Given the description of an element on the screen output the (x, y) to click on. 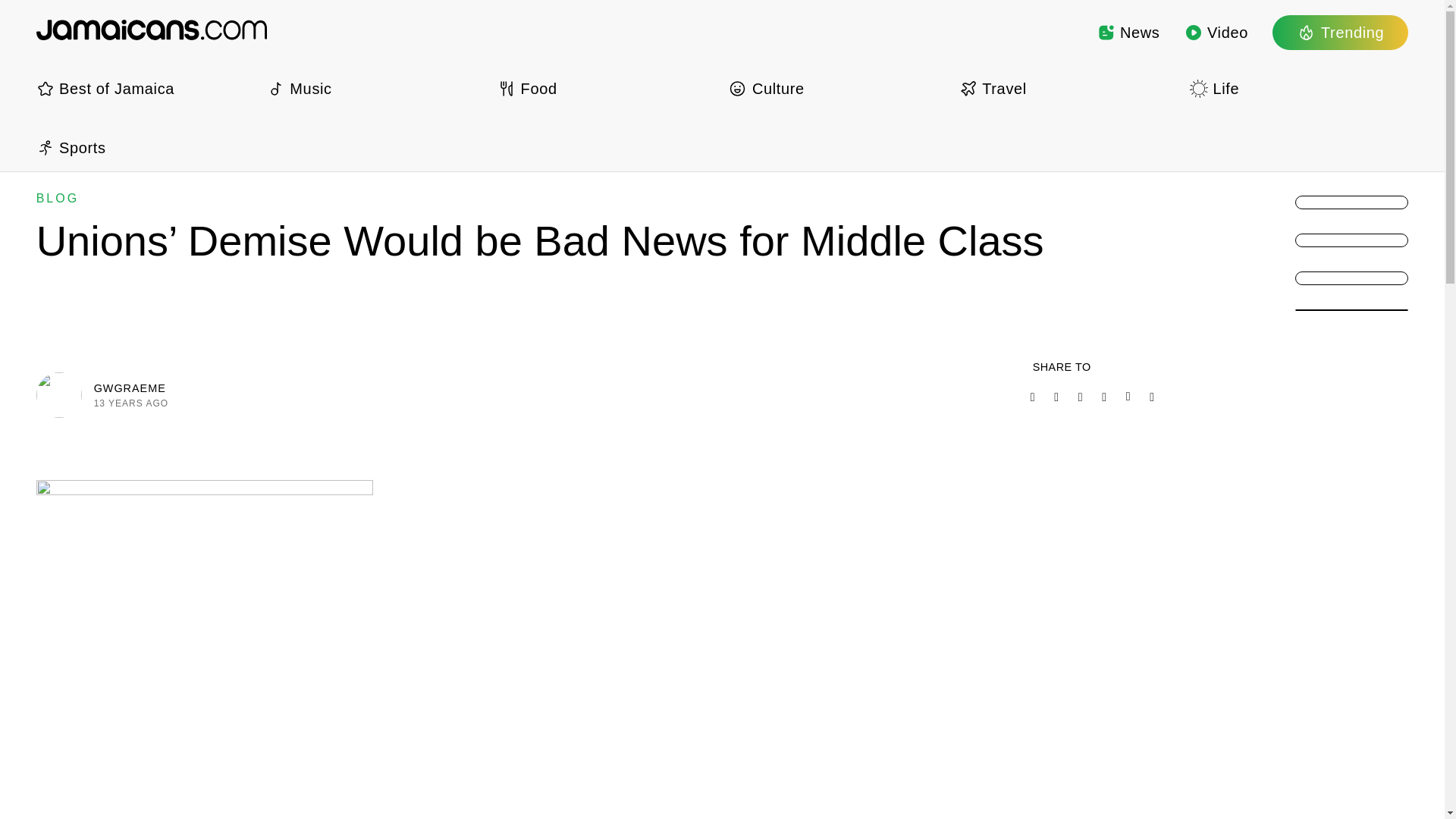
Sports (145, 147)
Video (1216, 32)
Food (606, 88)
News (1128, 32)
Travel (1068, 88)
BLOG (57, 197)
Trending (1339, 32)
Culture (837, 88)
Best of Jamaica (145, 88)
Life (1298, 88)
Music (375, 88)
